Given the description of an element on the screen output the (x, y) to click on. 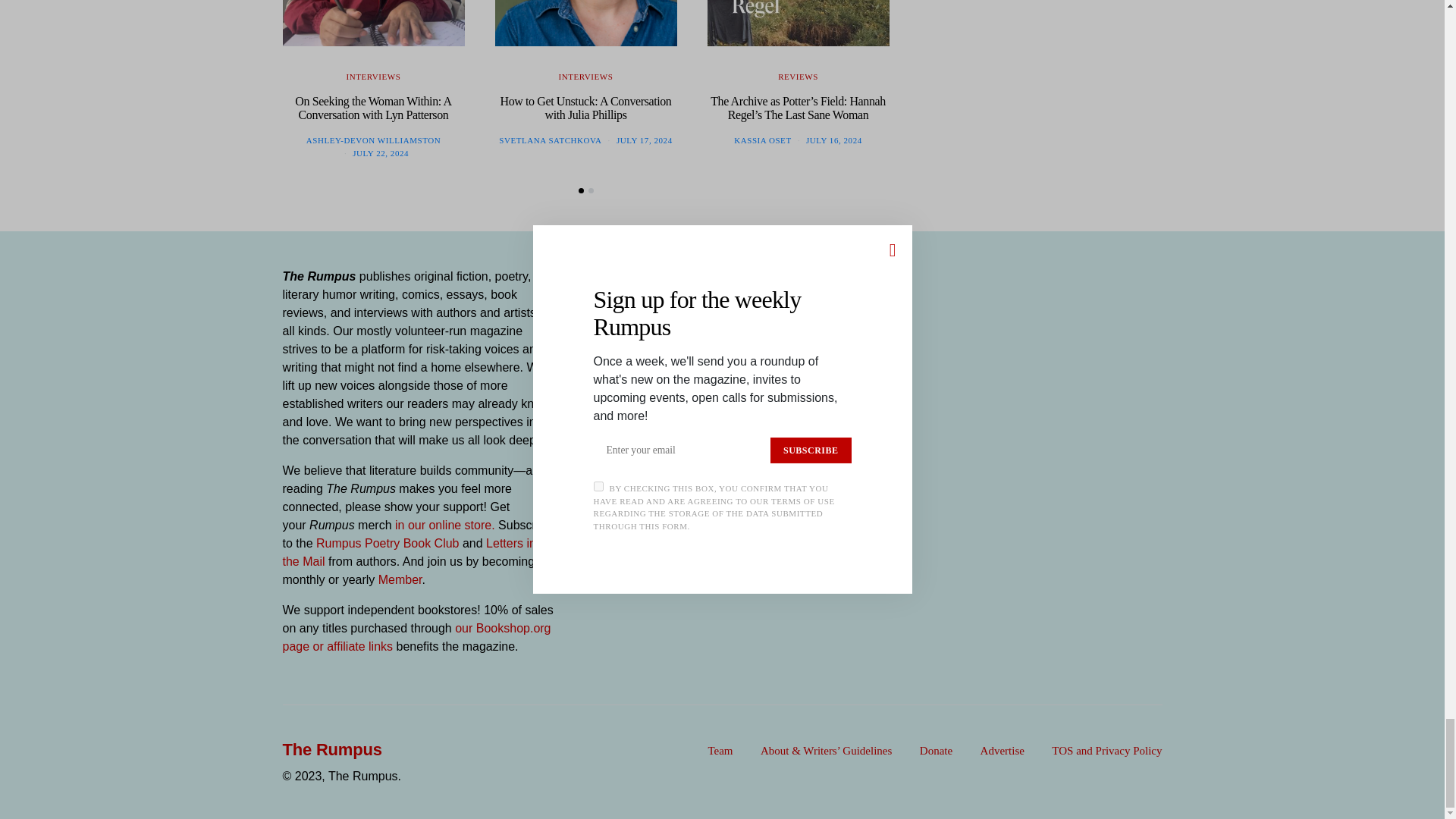
View all posts by Svetlana Satchkova (550, 139)
View all posts by Ashley-Devon Williamston (373, 139)
View all posts by Kassia Oset (761, 139)
on (590, 374)
